Given the description of an element on the screen output the (x, y) to click on. 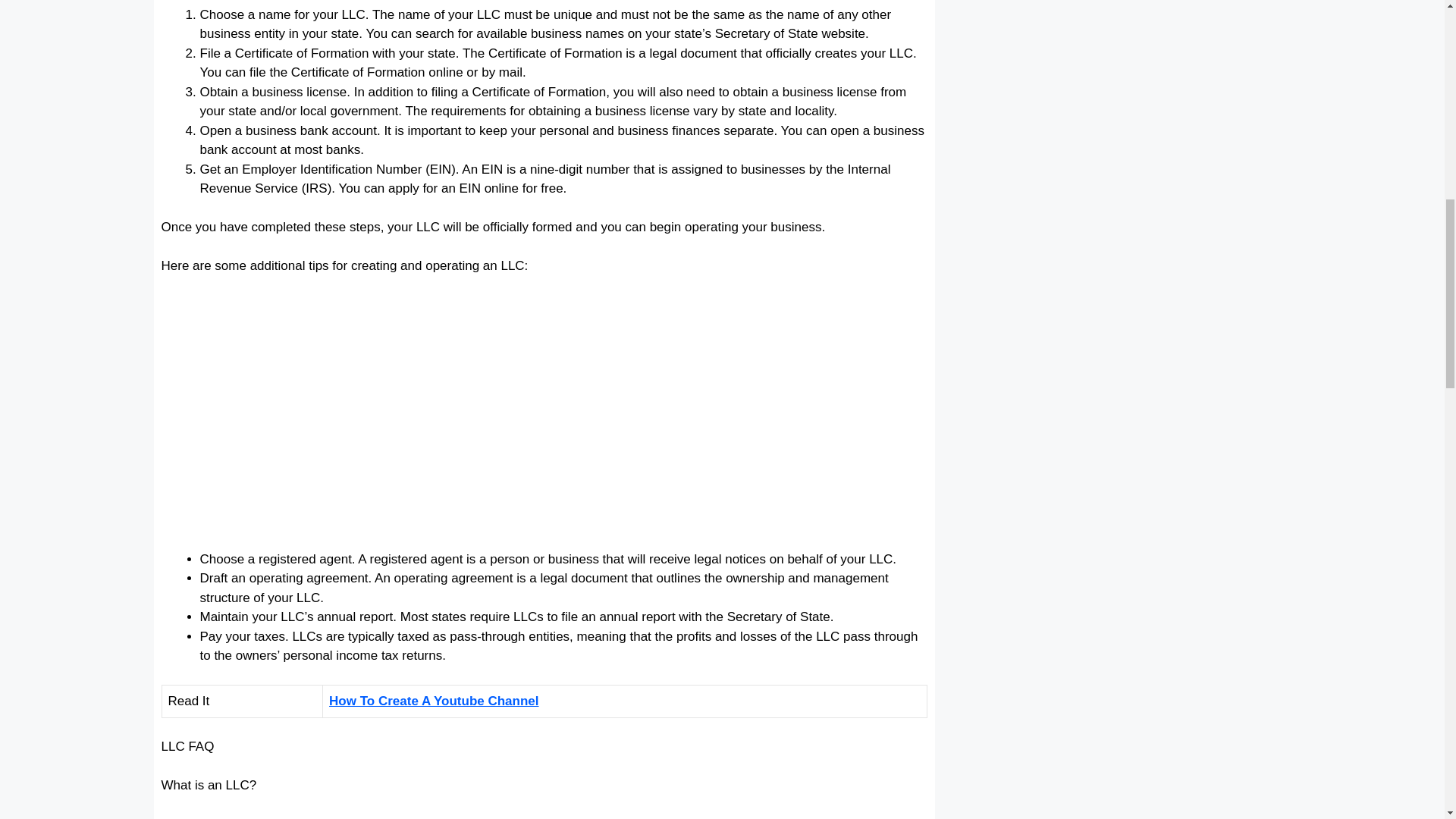
How To Create A Youtube Channel (433, 700)
